Given the description of an element on the screen output the (x, y) to click on. 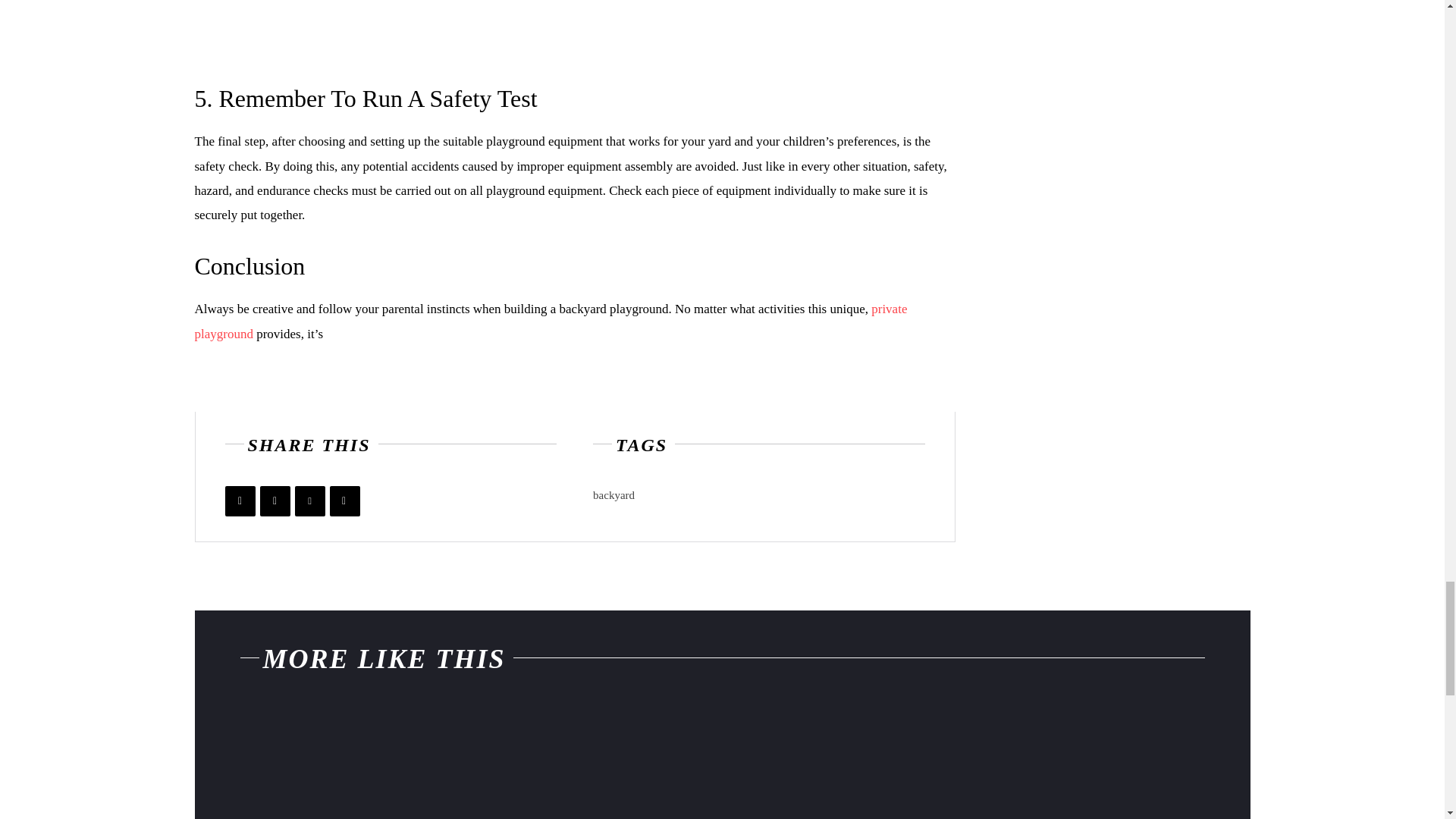
Pinterest (309, 501)
Twitter (274, 501)
Facebook (239, 501)
Mix (344, 501)
